Given the description of an element on the screen output the (x, y) to click on. 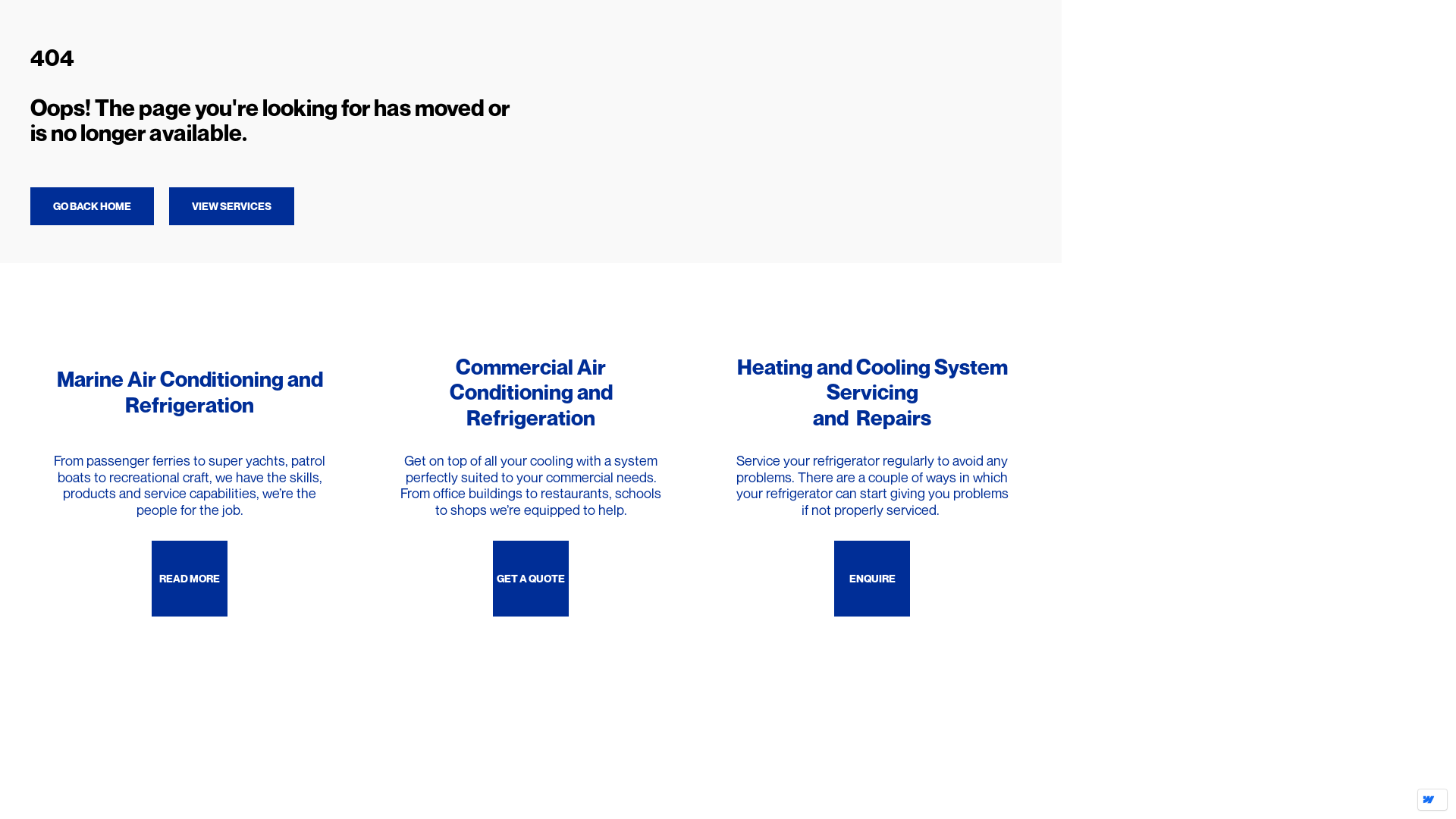
READ MORE Element type: text (189, 578)
ENQUIRE Element type: text (872, 578)
GET A QUOTE Element type: text (530, 578)
VIEW SERVICES Element type: text (231, 206)
GO BACK HOME Element type: text (91, 206)
